Given the description of an element on the screen output the (x, y) to click on. 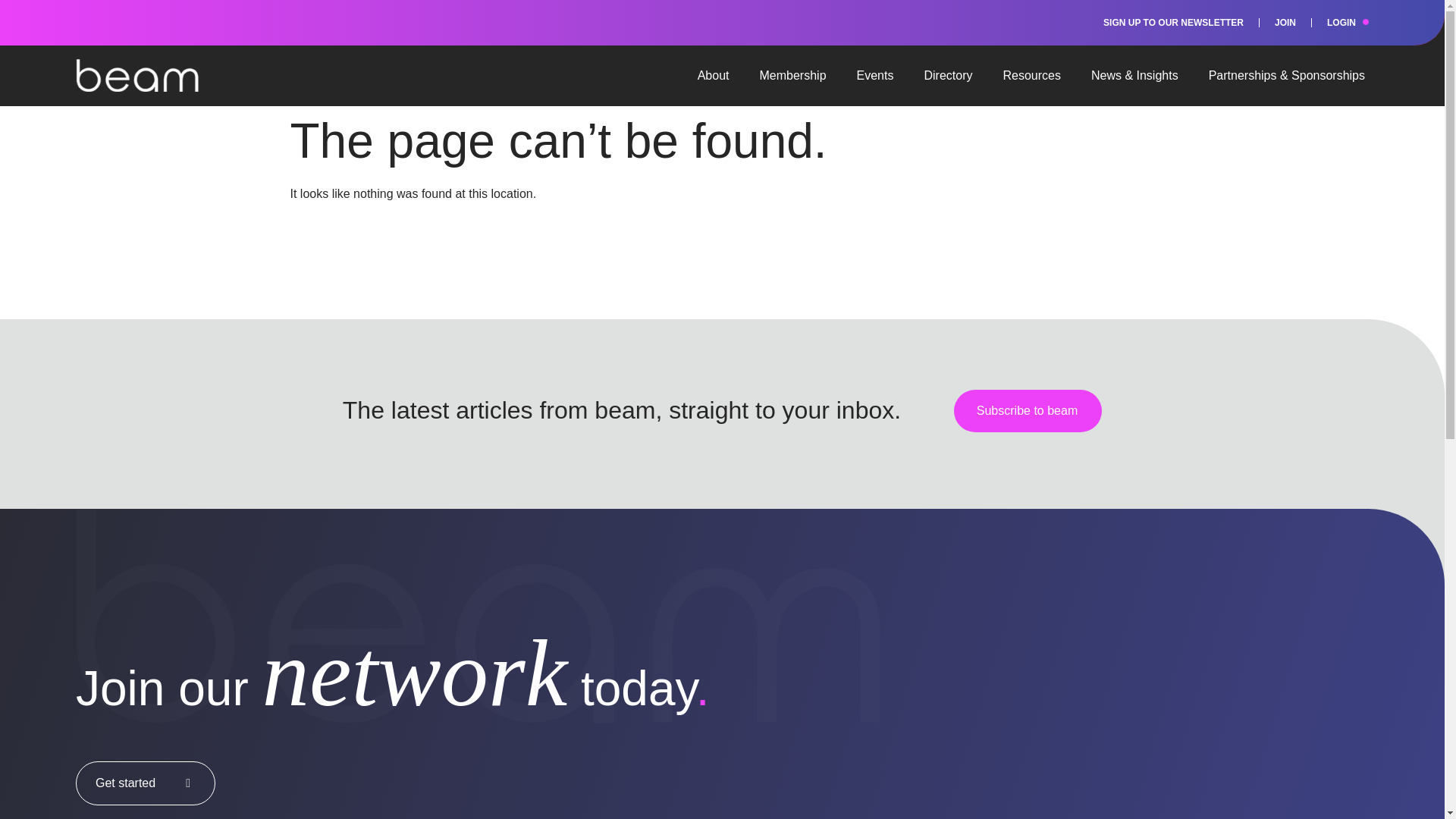
LOGIN (1341, 22)
Directory (947, 75)
Events (875, 75)
Membership (792, 75)
SIGN UP TO OUR NEWSLETTER (1173, 22)
JOIN (1285, 22)
Resources (1031, 75)
About (713, 75)
